Given the description of an element on the screen output the (x, y) to click on. 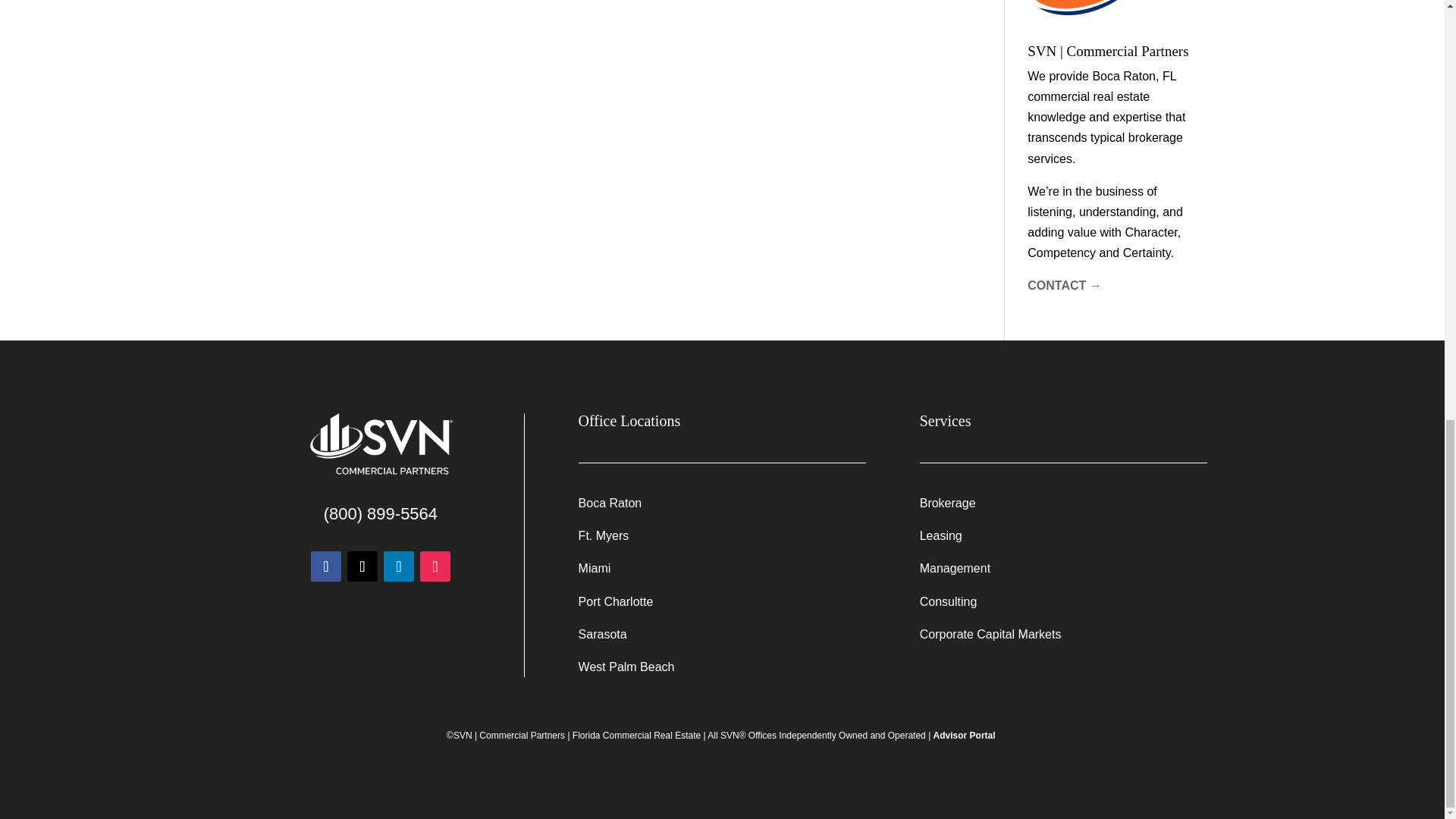
Follow on X (362, 566)
Follow on Facebook (325, 566)
Follow on Instagram (434, 566)
Follow on LinkedIn (398, 566)
SVN Commercial Partners White Logo png (379, 445)
